Given the description of an element on the screen output the (x, y) to click on. 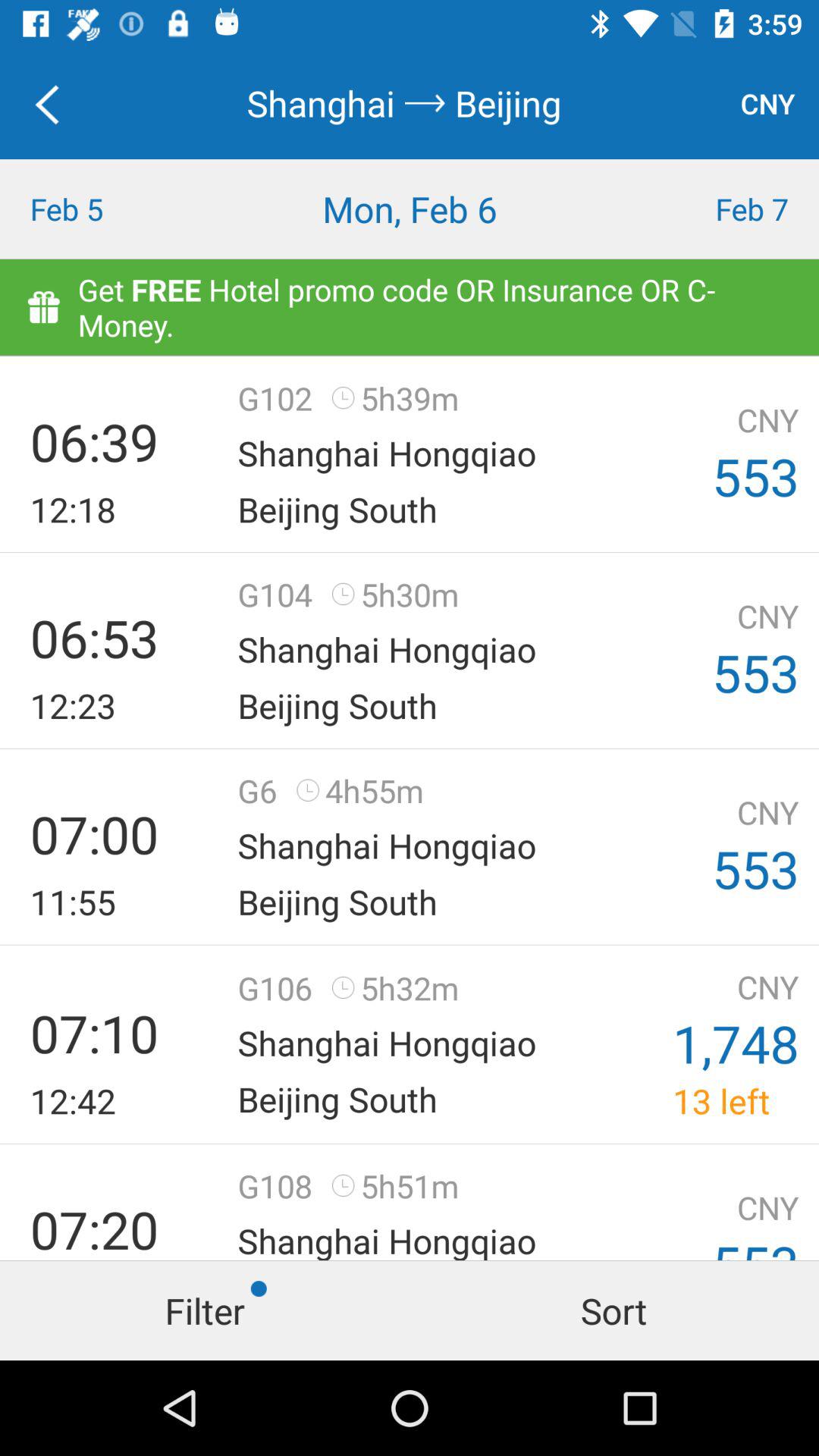
turn on feb 7 item (716, 208)
